Given the description of an element on the screen output the (x, y) to click on. 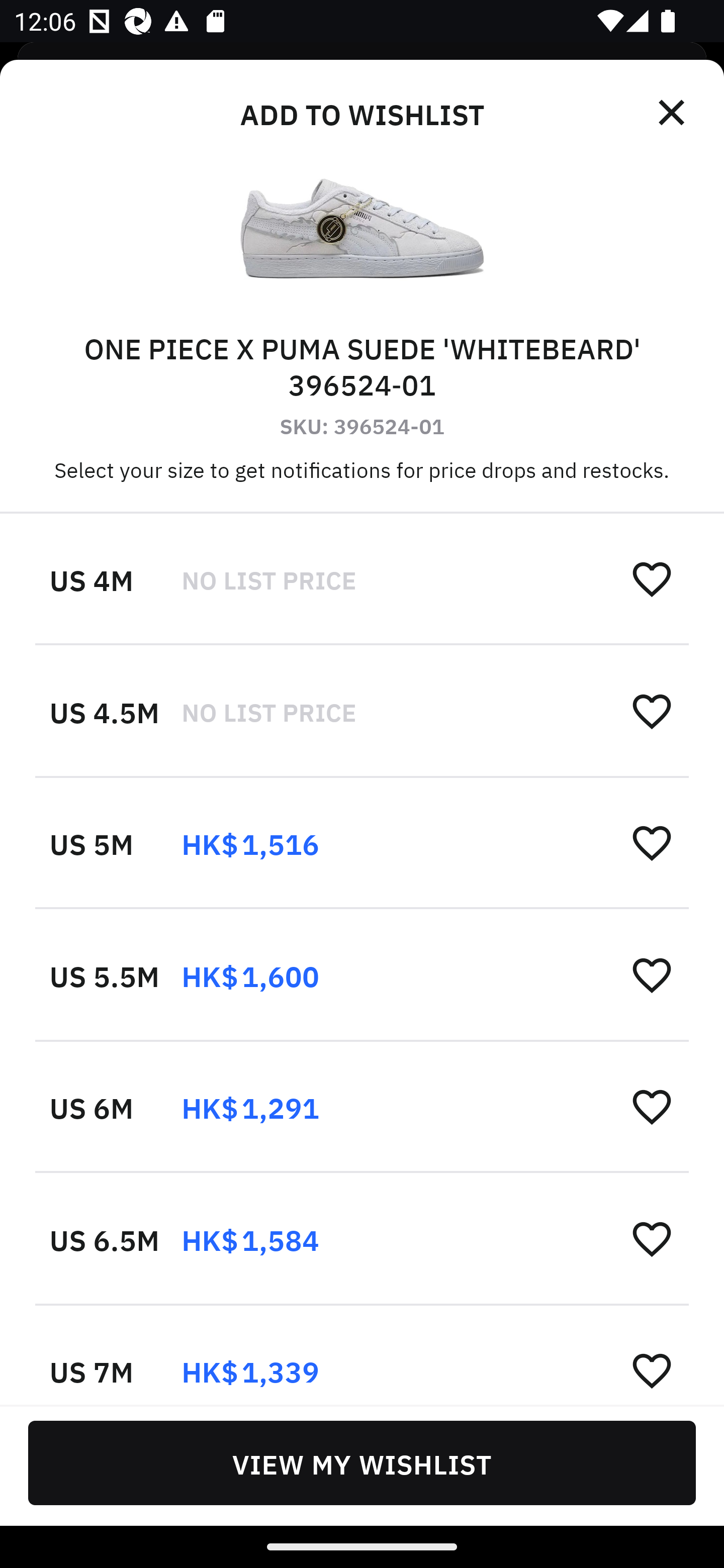
 (672, 112)
󰋕 (651, 578)
󰋕 (651, 710)
󰋕 (651, 842)
󰋕 (651, 974)
󰋕 (651, 1105)
󰋕 (651, 1237)
󰋕 (651, 1369)
VIEW MY WISHLIST (361, 1462)
